Given the description of an element on the screen output the (x, y) to click on. 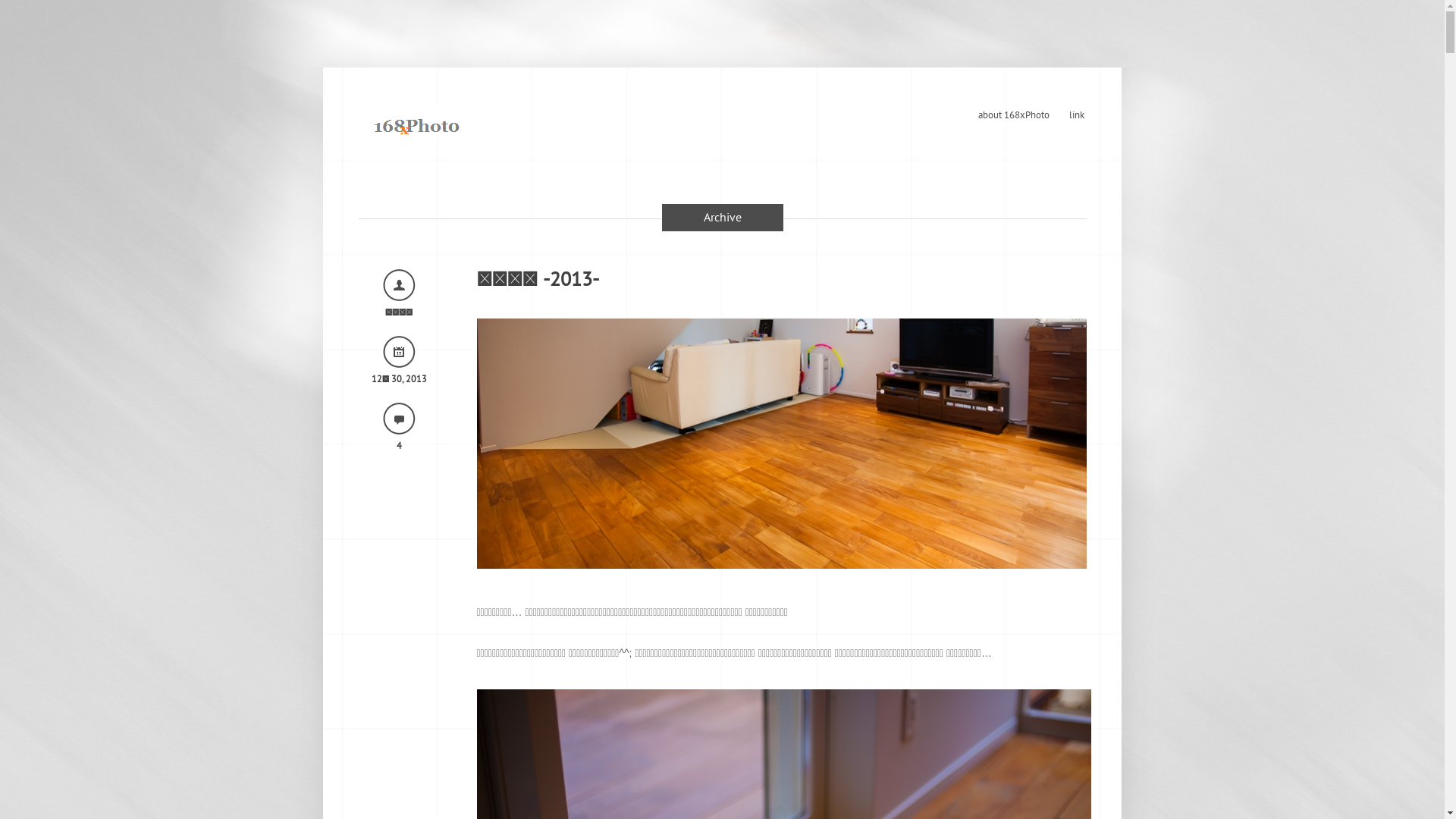
4 Element type: text (398, 445)
link Element type: text (1075, 115)
about 168xPhoto Element type: text (1012, 115)
168xphoto Element type: hover (416, 123)
